Given the description of an element on the screen output the (x, y) to click on. 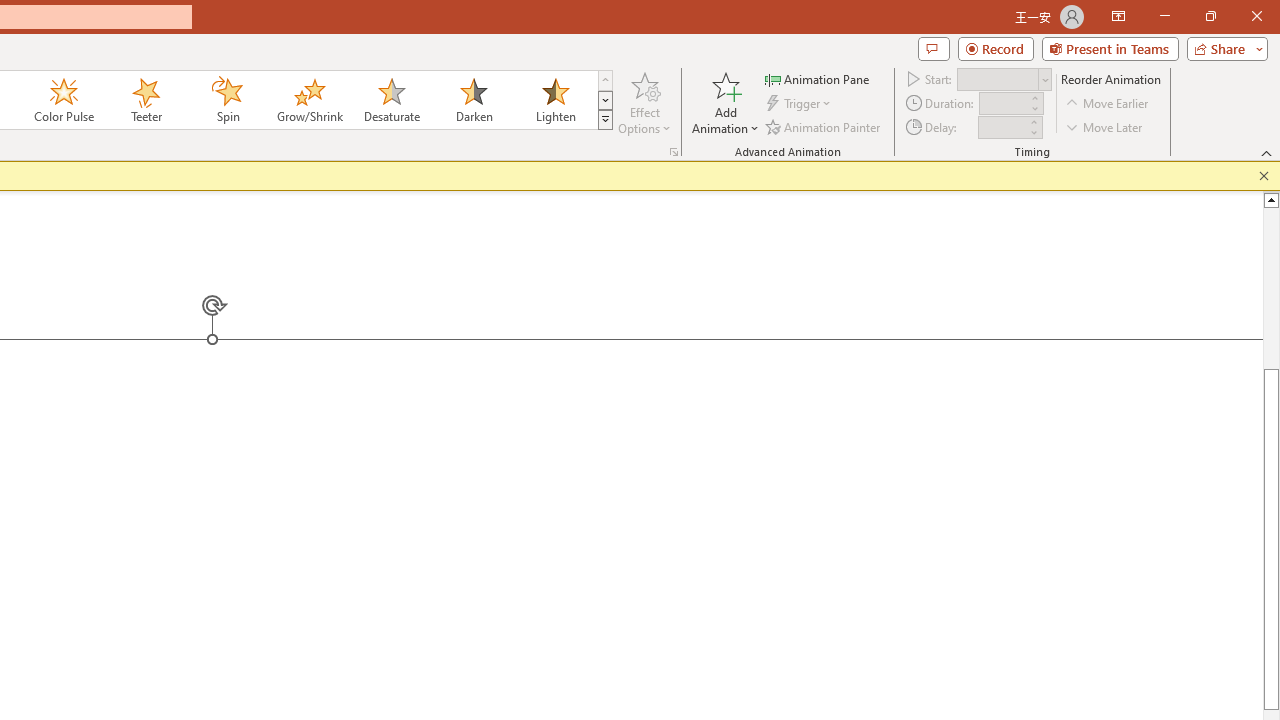
Darken (473, 100)
Lighten (555, 100)
Animation Pane (818, 78)
Animation Styles (605, 120)
Teeter (145, 100)
